Given the description of an element on the screen output the (x, y) to click on. 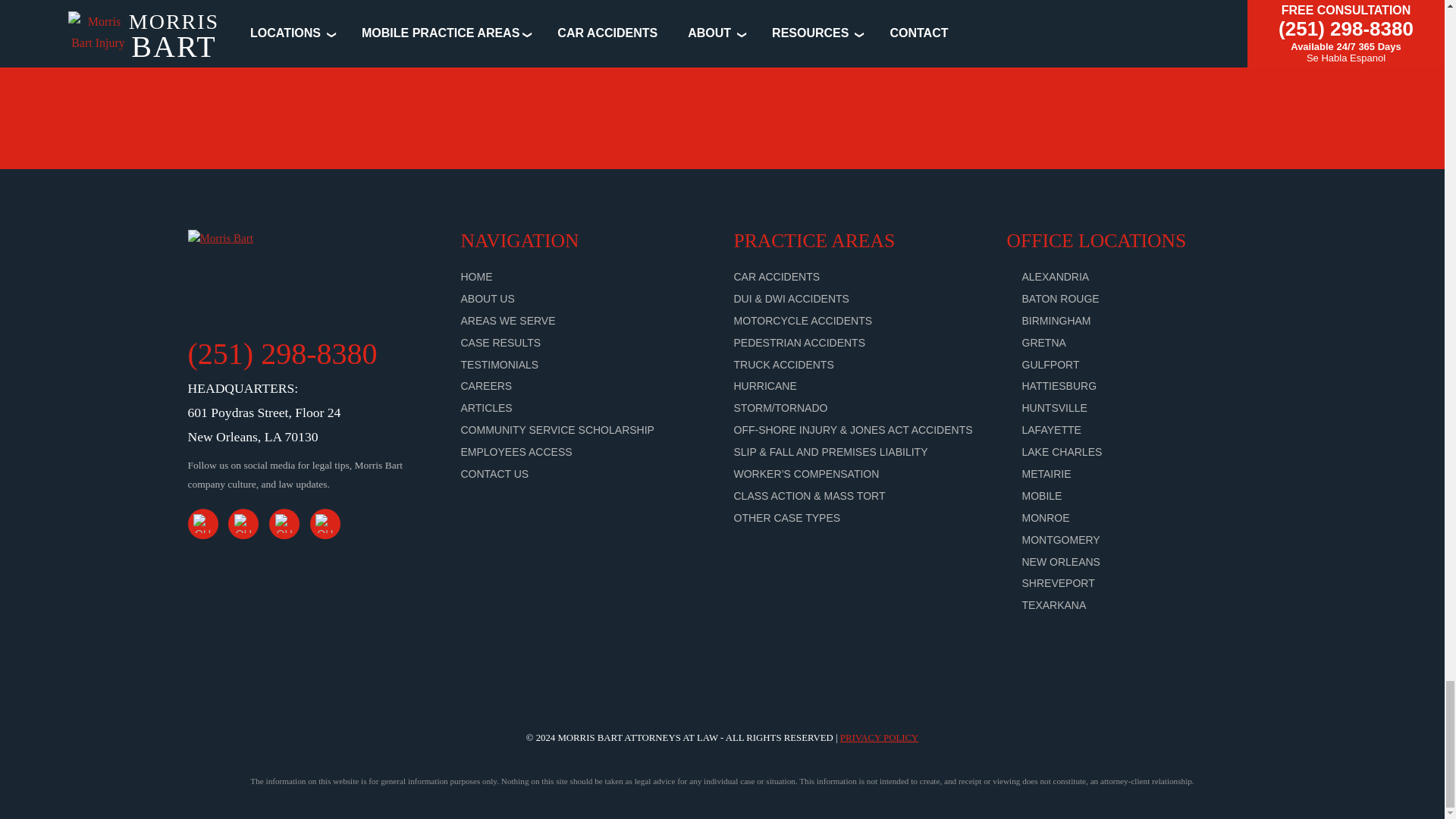
Careers (486, 386)
About us (488, 298)
Areas We Serve (508, 320)
Case results (501, 342)
Testimonials (499, 363)
